Given the description of an element on the screen output the (x, y) to click on. 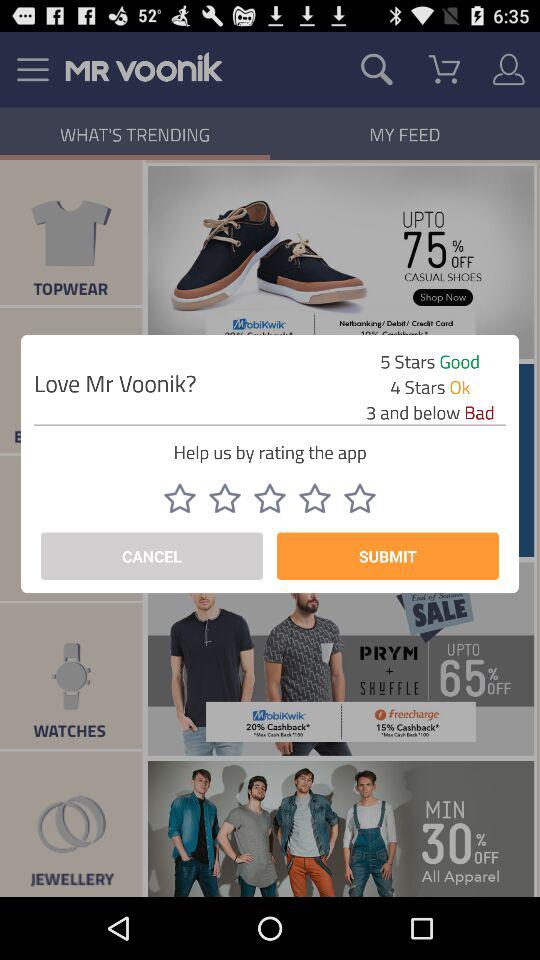
rate one star (180, 498)
